Given the description of an element on the screen output the (x, y) to click on. 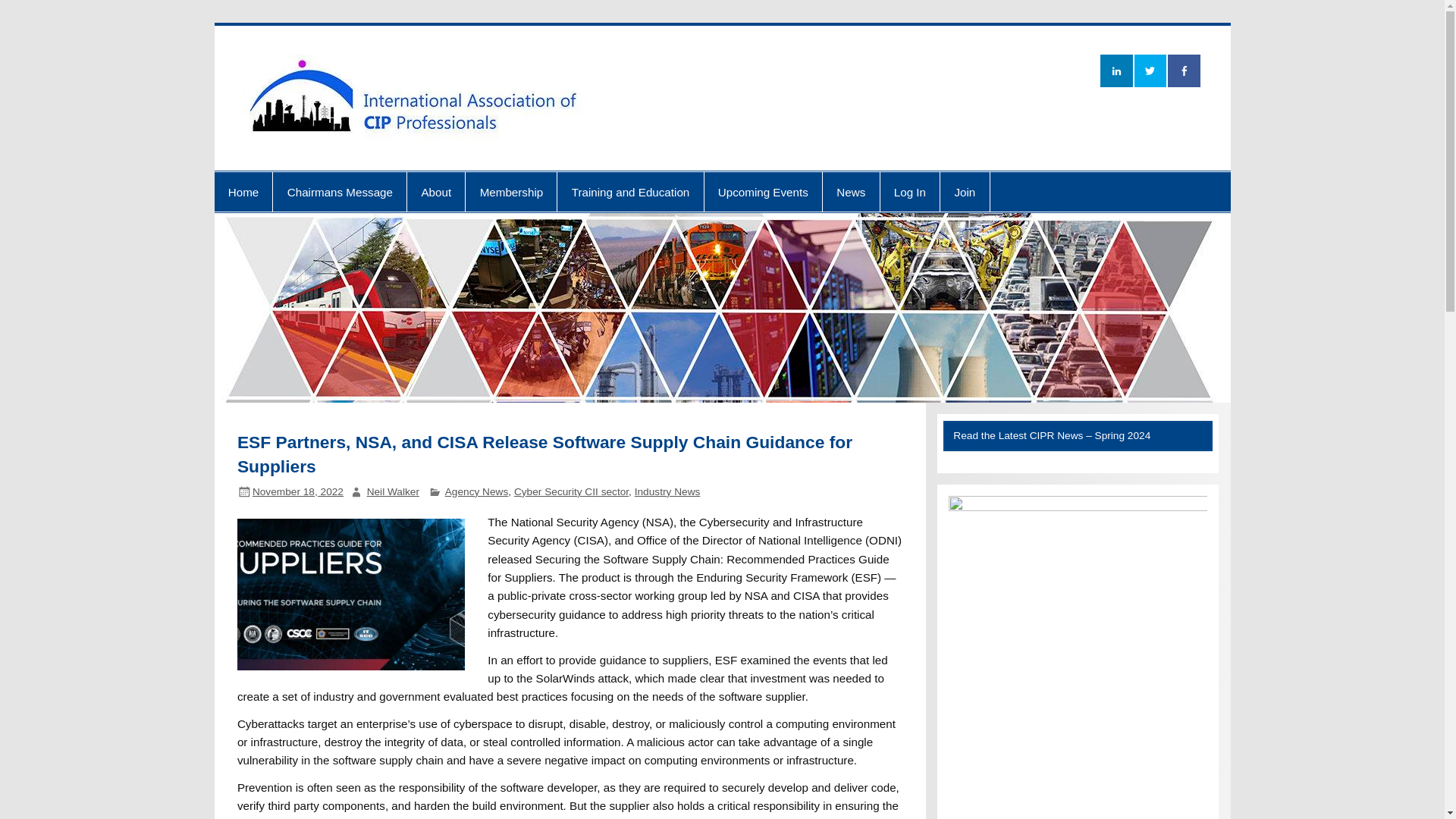
Chairmans Message (339, 191)
Membership (510, 191)
International Association of CIP Professionals (1098, 69)
About (435, 191)
Neil Walker (392, 491)
Industry News (667, 491)
View all posts by Neil Walker (392, 491)
News (850, 191)
Upcoming Events (763, 191)
Join (964, 191)
